Given the description of an element on the screen output the (x, y) to click on. 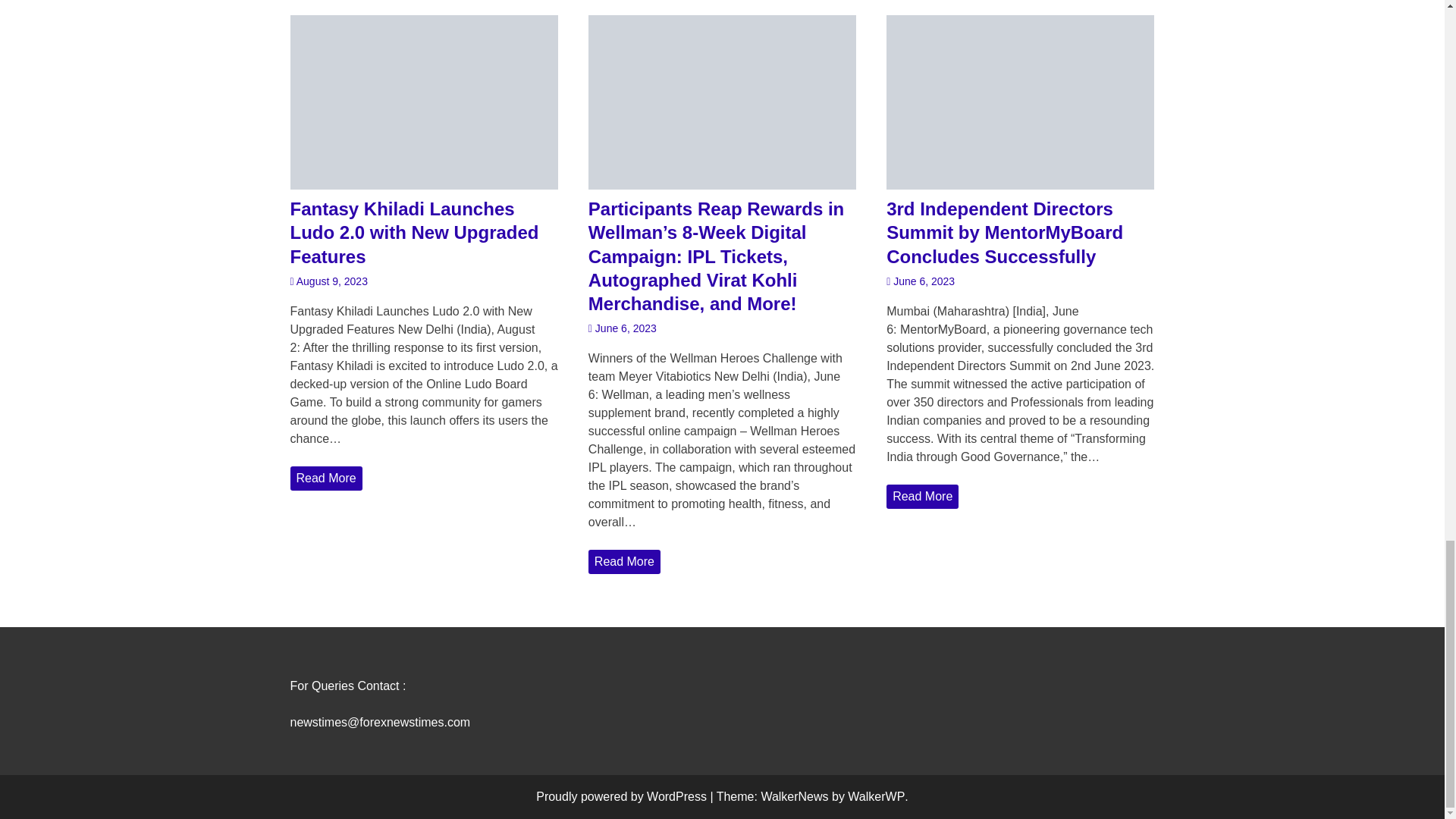
June 6, 2023 (622, 328)
Read More (325, 478)
August 9, 2023 (327, 281)
Read More (624, 561)
